Given the description of an element on the screen output the (x, y) to click on. 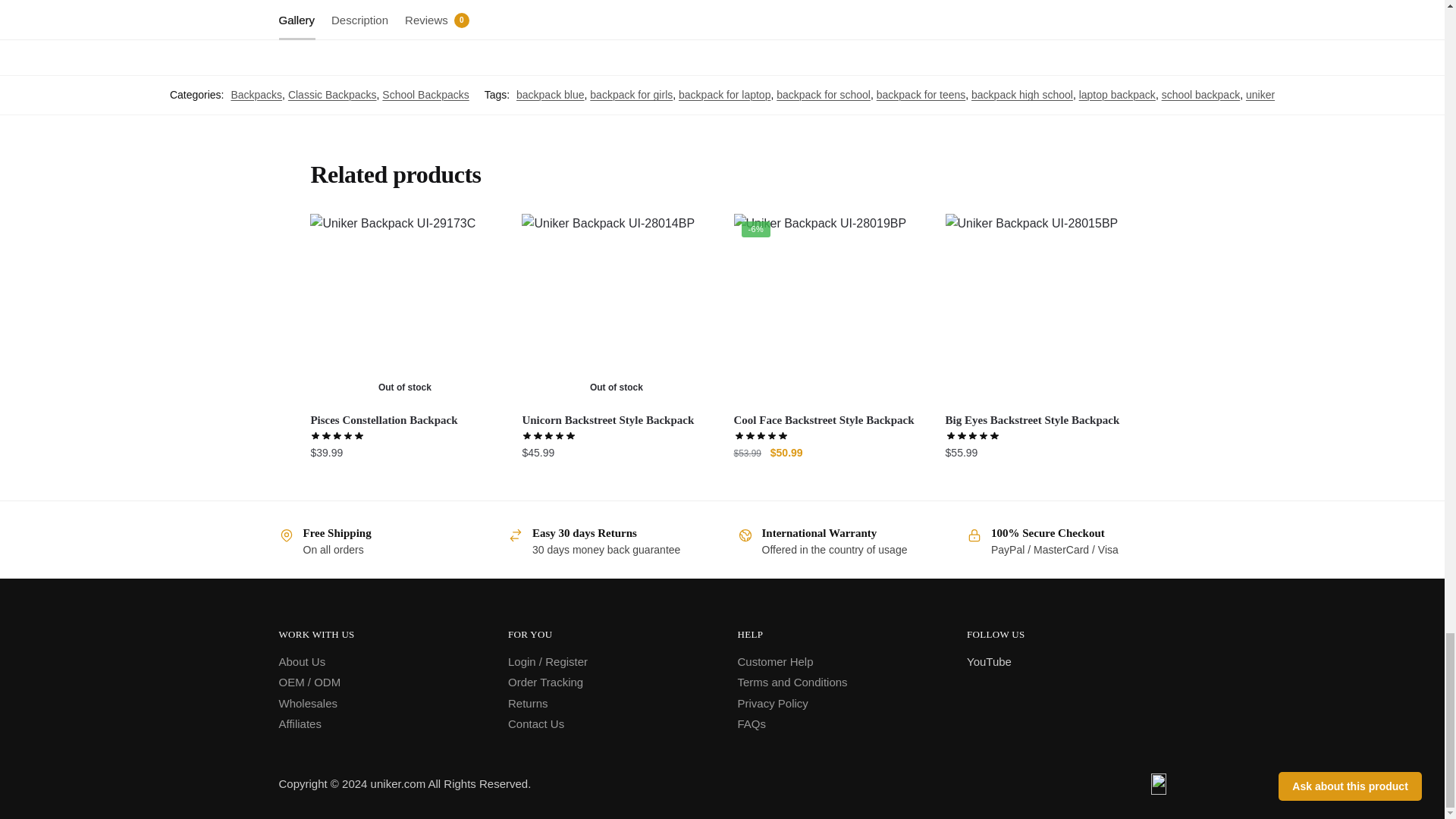
Submit (345, 14)
